Given the description of an element on the screen output the (x, y) to click on. 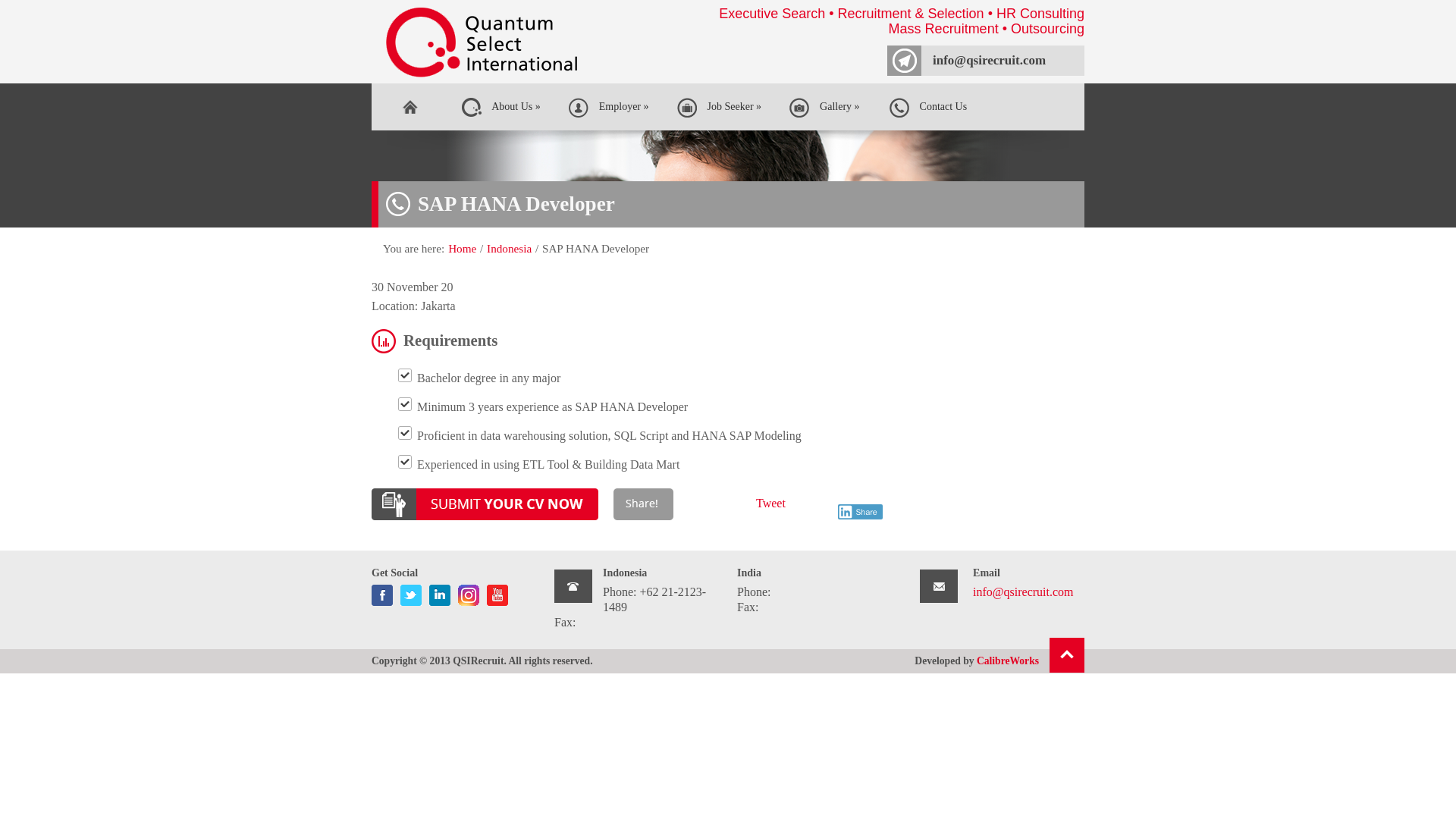
Indonesia (508, 247)
Share (860, 511)
twitter (999, 661)
Home (411, 591)
View all items in Indonesia (408, 106)
CalibreWorks (508, 247)
Return To Top (1007, 660)
linkedin (1066, 655)
View Home (439, 591)
gplus (462, 247)
  Contact Us (468, 591)
facebook (931, 106)
